Given the description of an element on the screen output the (x, y) to click on. 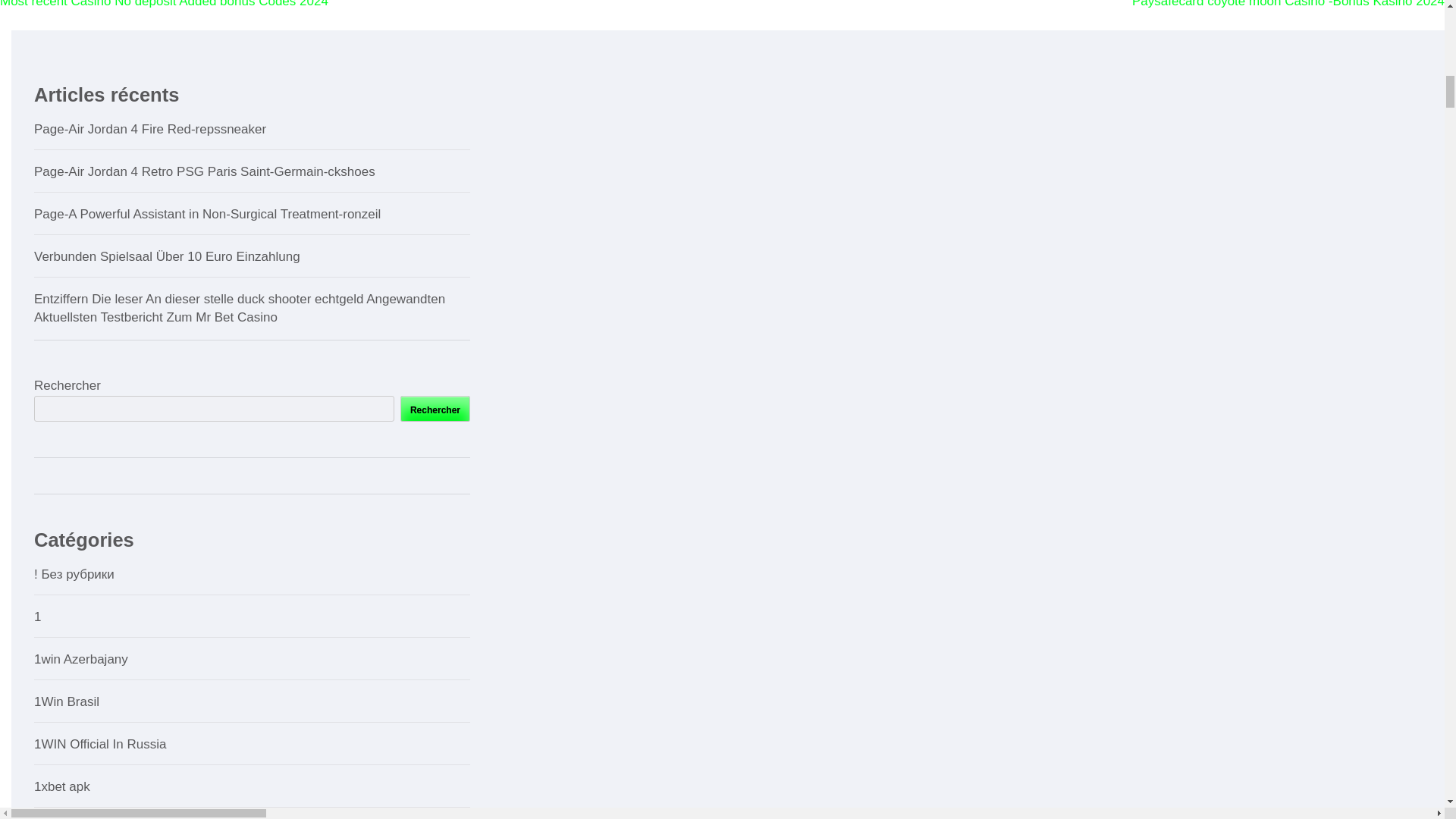
Page-Air Jordan 4 Retro PSG Paris Saint-Germain-ckshoes (204, 171)
Most recent Casino No deposit Added bonus Codes 2024 (164, 4)
Rechercher (435, 408)
Paysafecard coyote moon Casino -Bonus Kasino 2024 (1288, 4)
Page-Air Jordan 4 Fire Red-repssneaker (149, 129)
Page-A Powerful Assistant in Non-Surgical Treatment-ronzeil (206, 214)
